Given the description of an element on the screen output the (x, y) to click on. 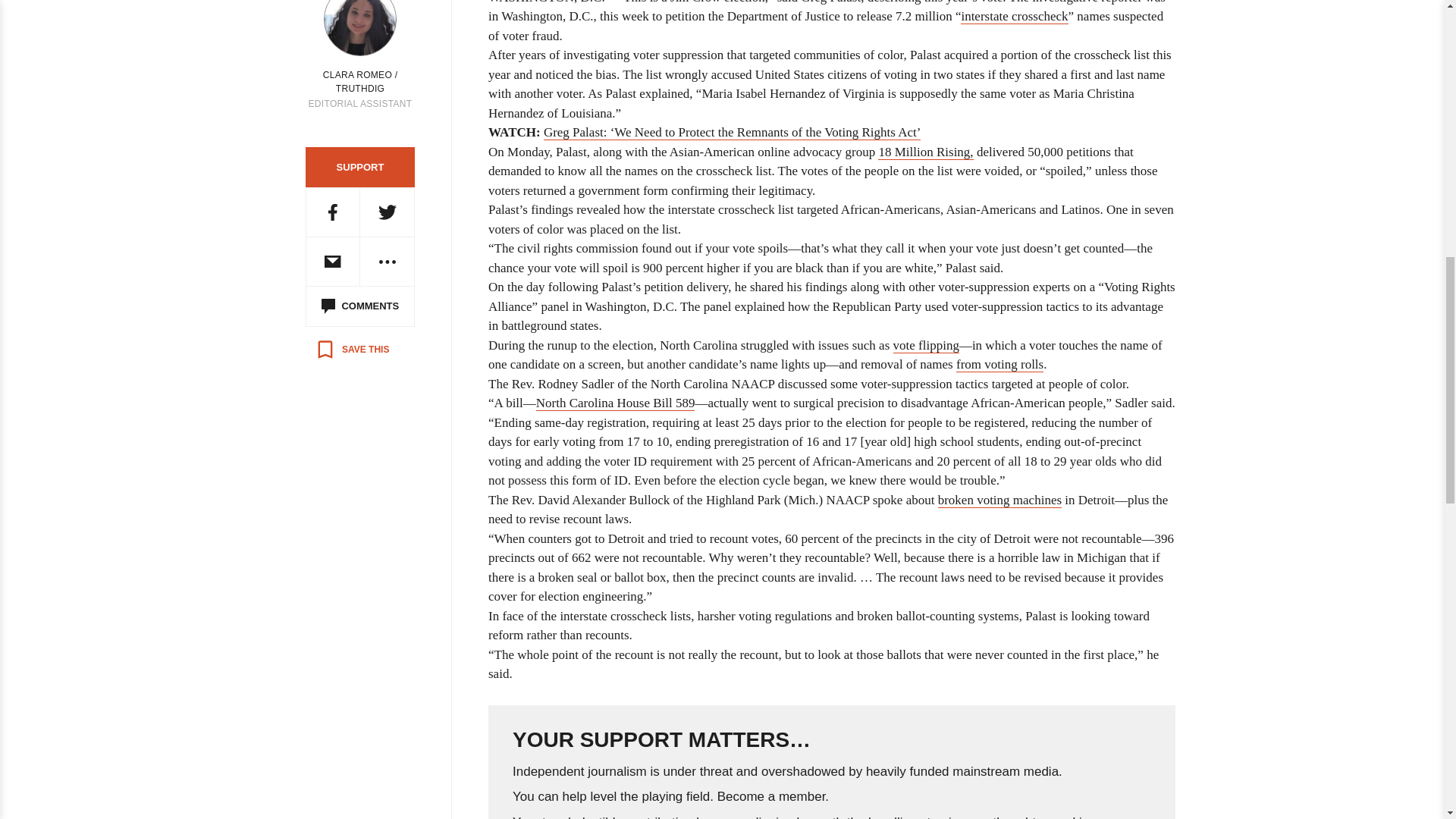
Save to read later (351, 349)
